Given the description of an element on the screen output the (x, y) to click on. 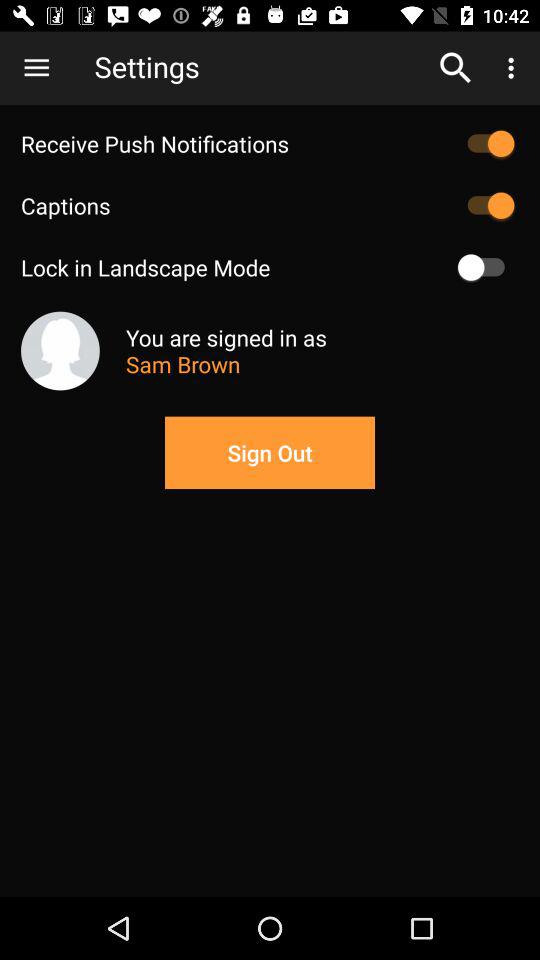
toggle push notifications (486, 143)
